Given the description of an element on the screen output the (x, y) to click on. 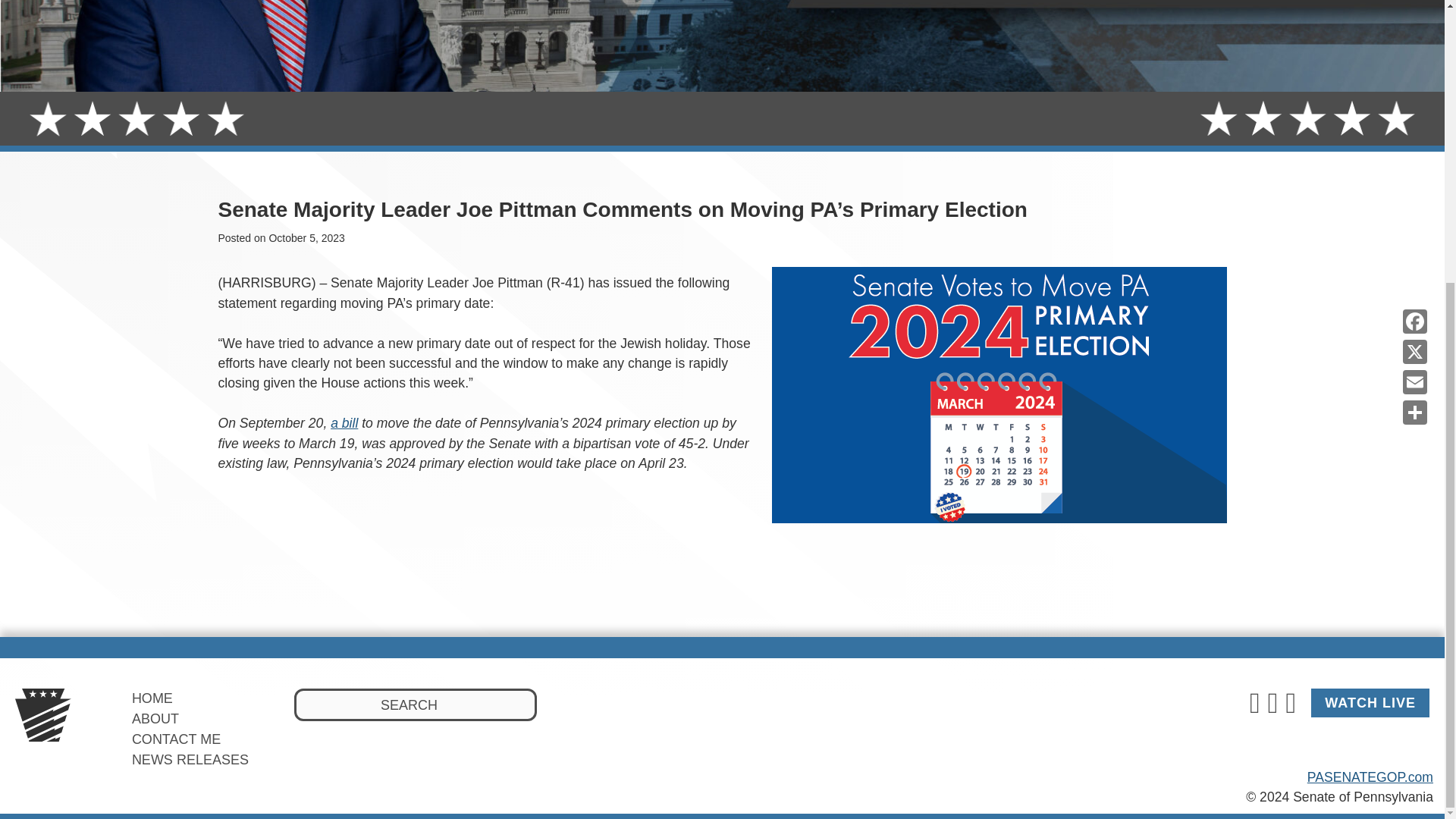
WATCH LIVE (1370, 702)
CONTACT ME (176, 739)
HOME (152, 698)
NEWS RELEASES (190, 759)
ABOUT (155, 718)
a bill (344, 422)
